Given the description of an element on the screen output the (x, y) to click on. 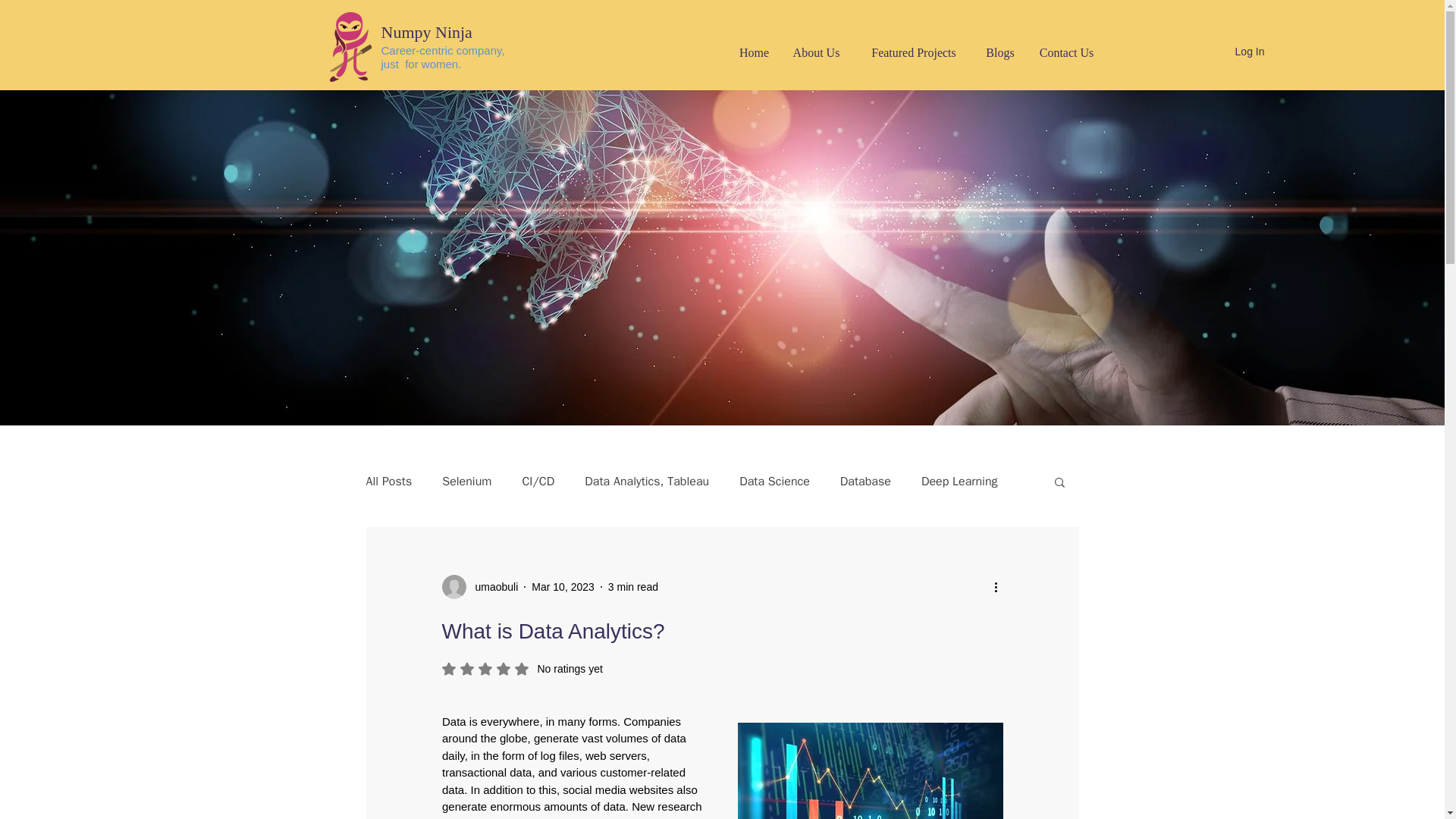
Mar 10, 2023 (562, 586)
About Us (814, 52)
Data Analytics, Tableau (647, 480)
Blogs (1000, 52)
All Posts (388, 480)
Deep Learning (959, 480)
Numpy Ninja (425, 31)
Log In (1235, 52)
3 min read (633, 586)
Home (753, 52)
